Given the description of an element on the screen output the (x, y) to click on. 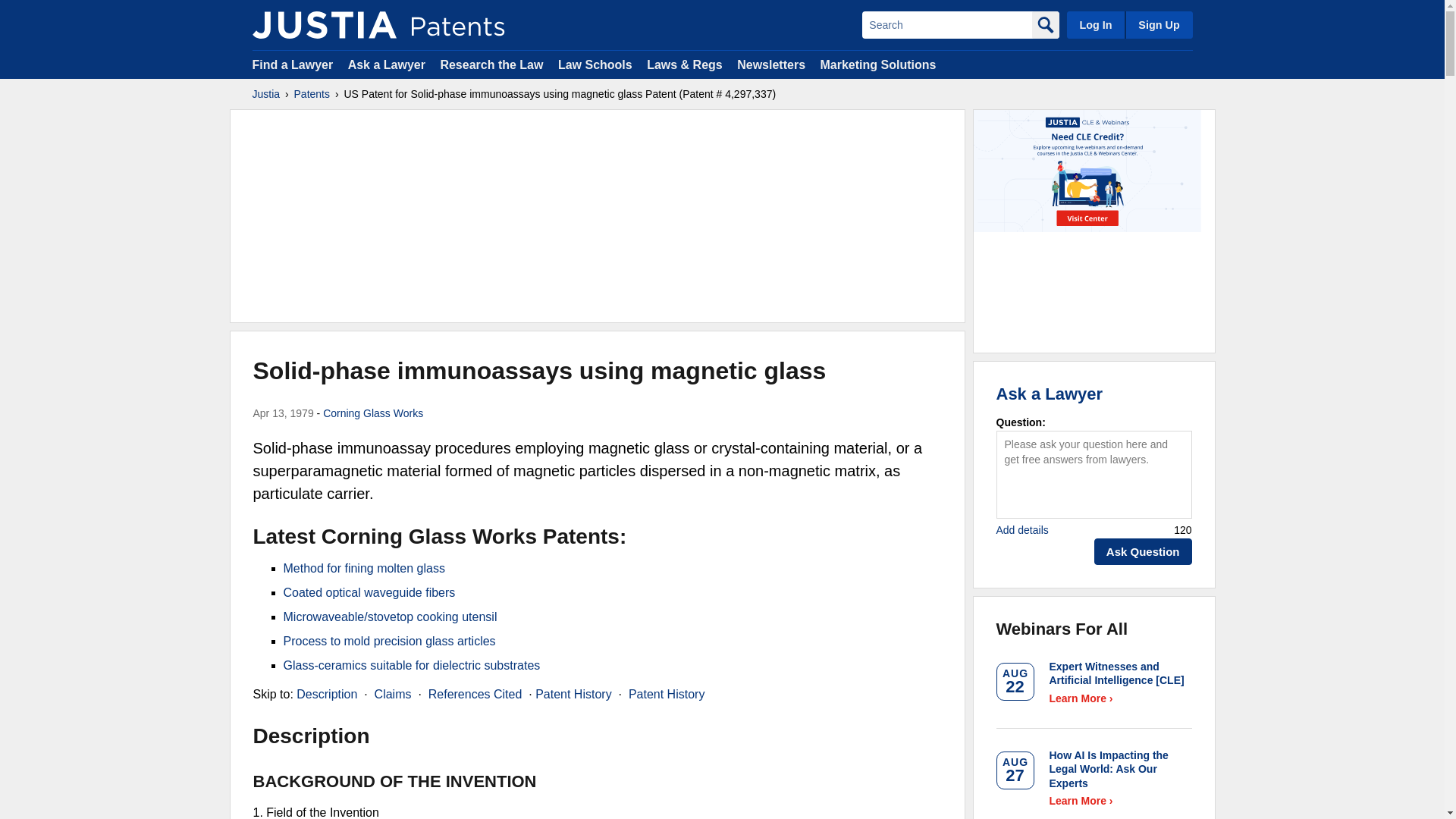
Marketing Solutions (877, 64)
Search (945, 24)
Description (326, 694)
Find a Lawyer (292, 64)
References Cited (475, 694)
Sign Up (1158, 24)
Law Schools (594, 64)
Newsletters (770, 64)
Ask a Lawyer (386, 64)
